Given the description of an element on the screen output the (x, y) to click on. 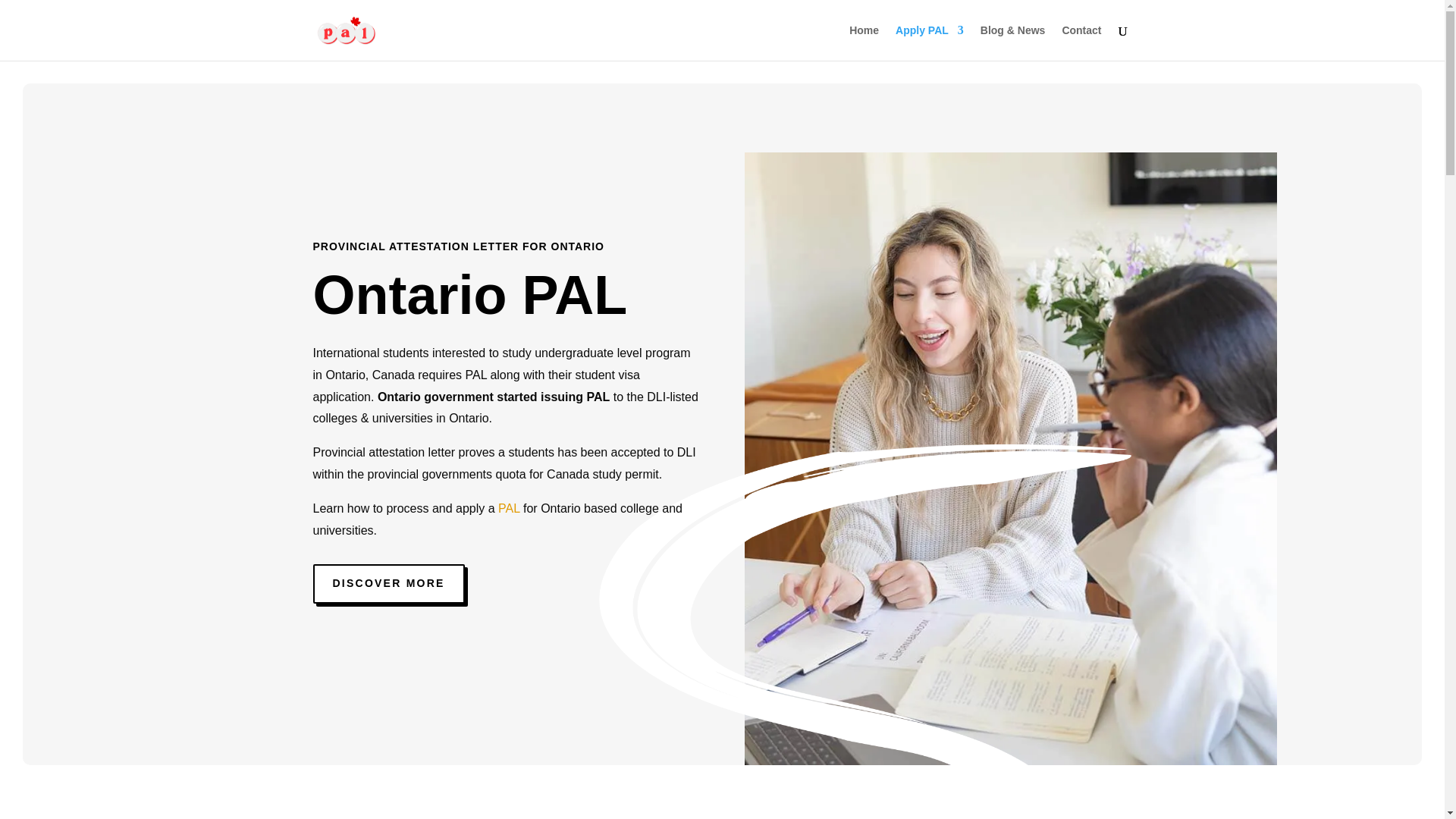
Contact (1080, 42)
DISCOVER MORE (388, 583)
PAL (508, 508)
Apply PAL (929, 42)
